Given the description of an element on the screen output the (x, y) to click on. 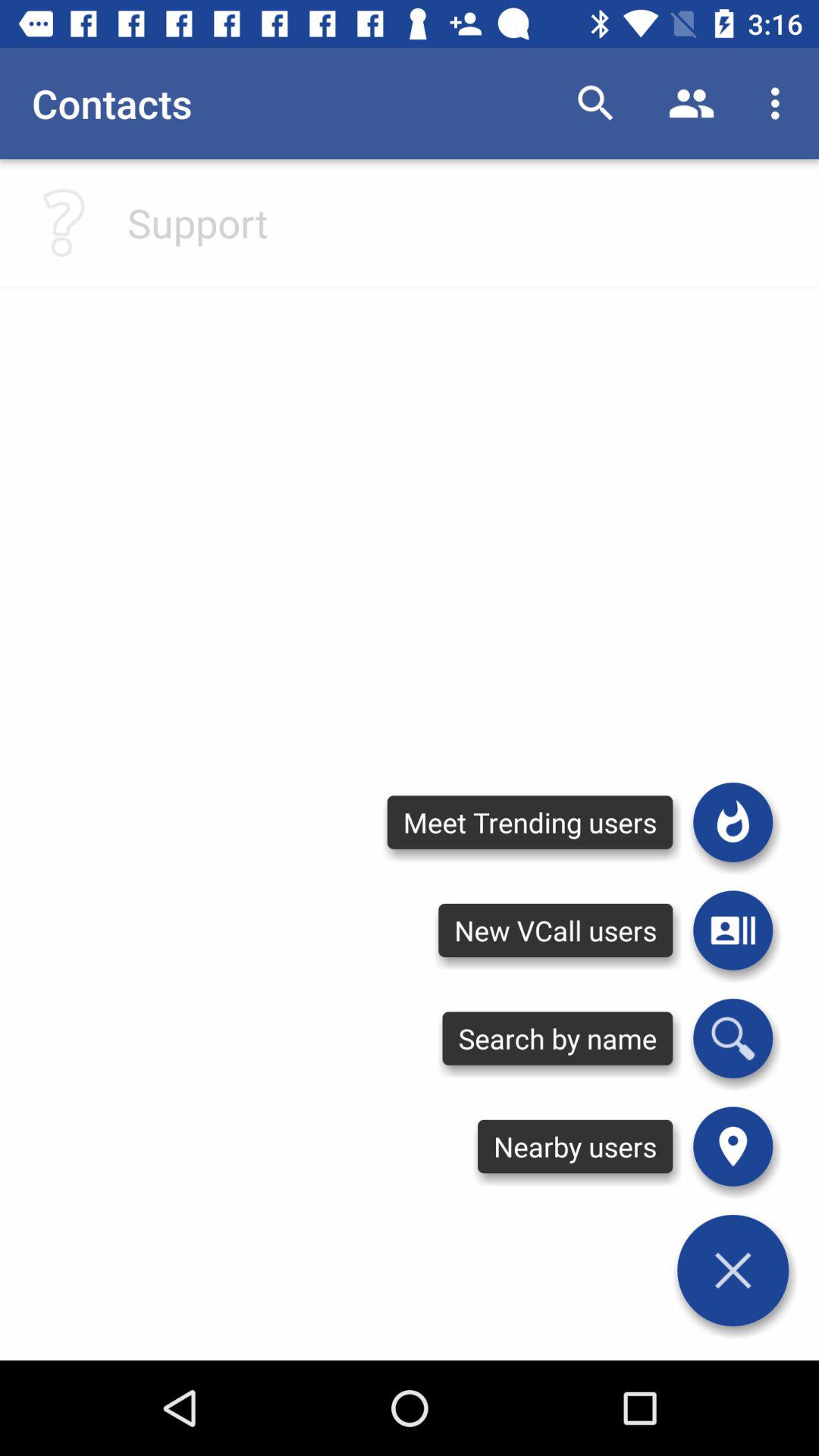
choose icon below contacts (197, 222)
